Given the description of an element on the screen output the (x, y) to click on. 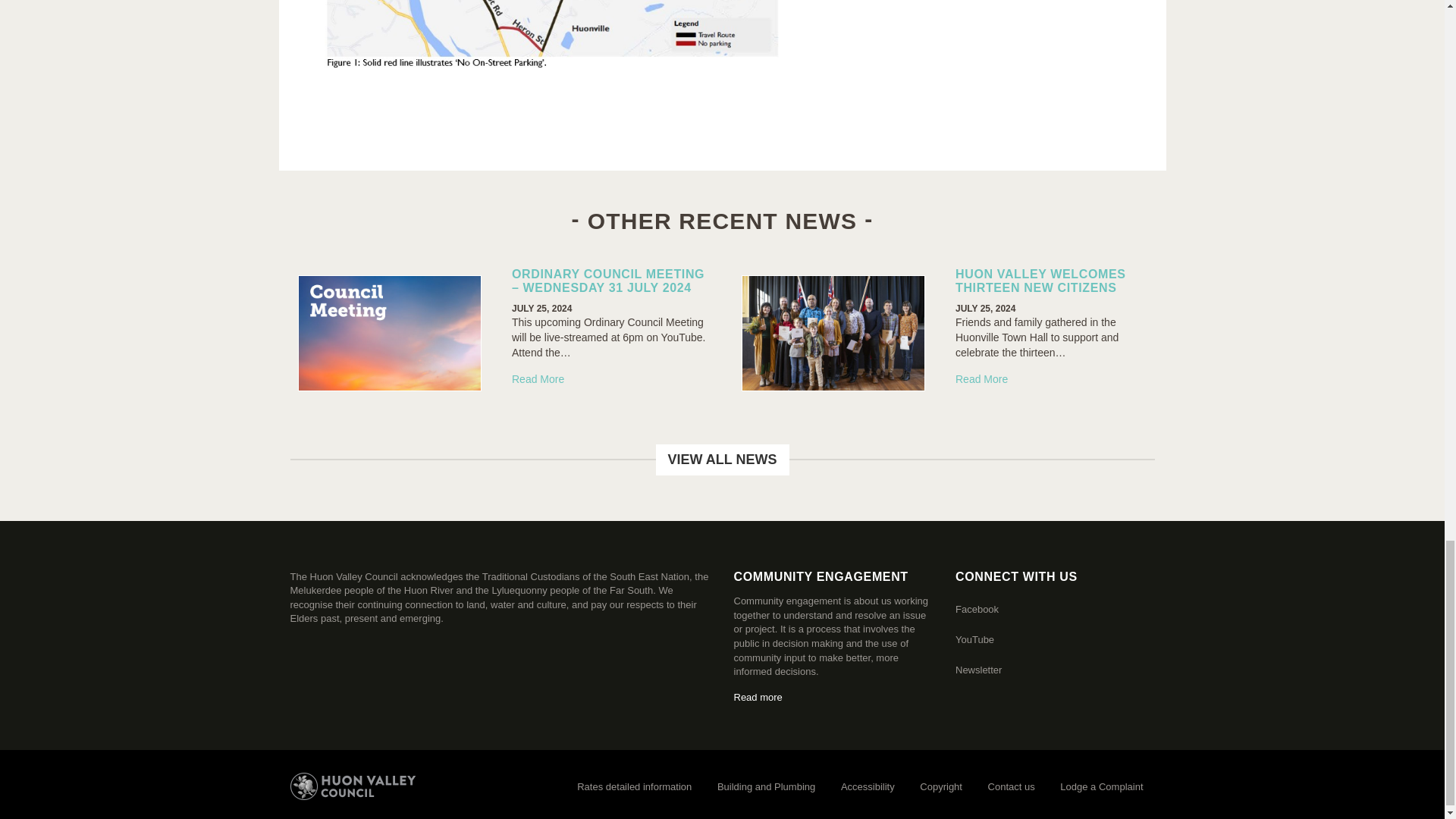
HUON VALLEY WELCOMES THIRTEEN NEW CITIZENS (1040, 280)
Accessibility (867, 787)
Read more (758, 696)
Facebook (976, 609)
Lodge a Complaint (1101, 787)
Rates detailed information (634, 787)
Building and Plumbing (766, 787)
Copyright (941, 787)
Read More (981, 378)
Read More (538, 378)
YouTube (974, 639)
Newsletter (978, 669)
VIEW ALL NEWS (722, 459)
Contact us (1011, 787)
